Given the description of an element on the screen output the (x, y) to click on. 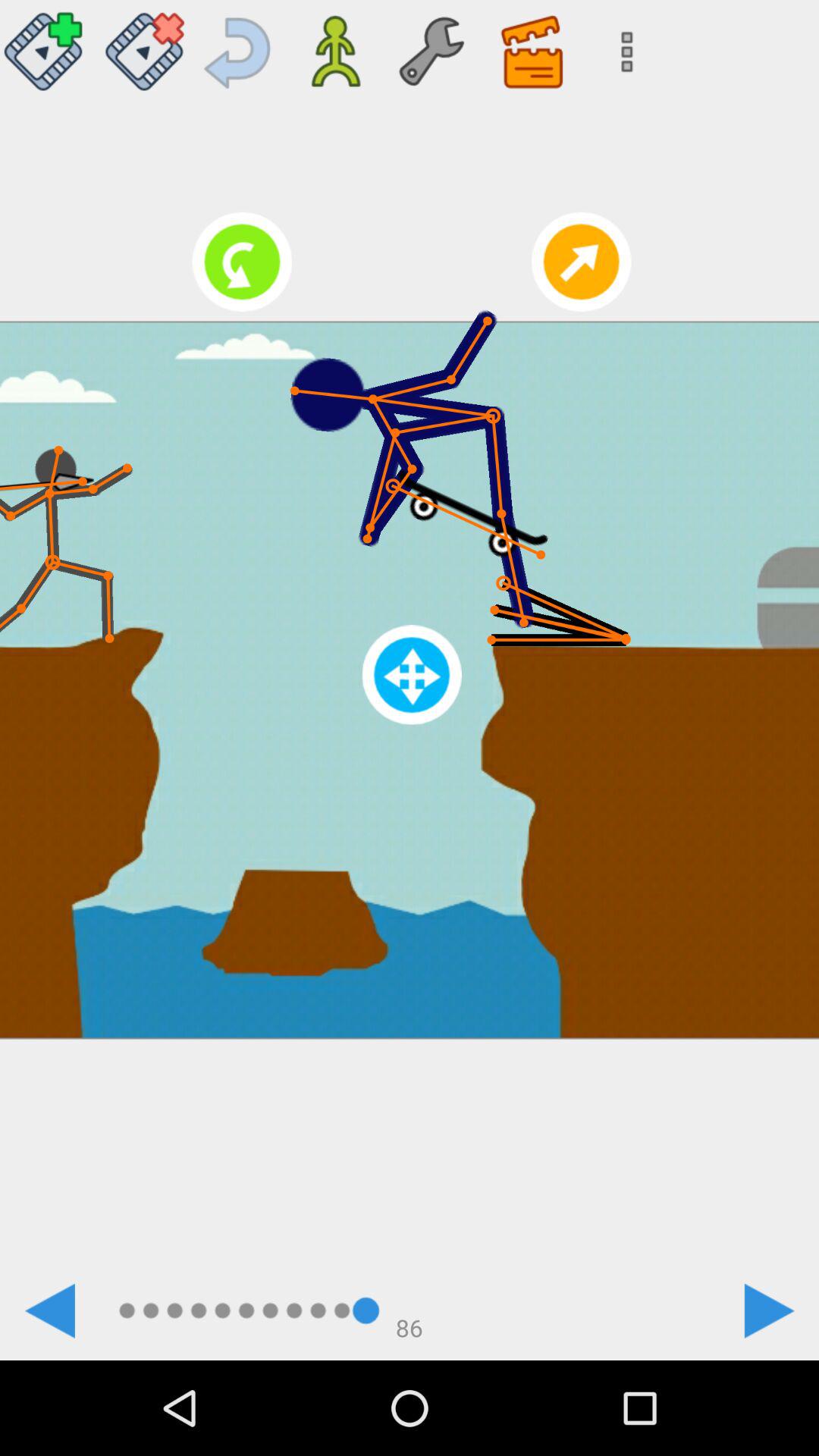
go to previous (239, 45)
